Given the description of an element on the screen output the (x, y) to click on. 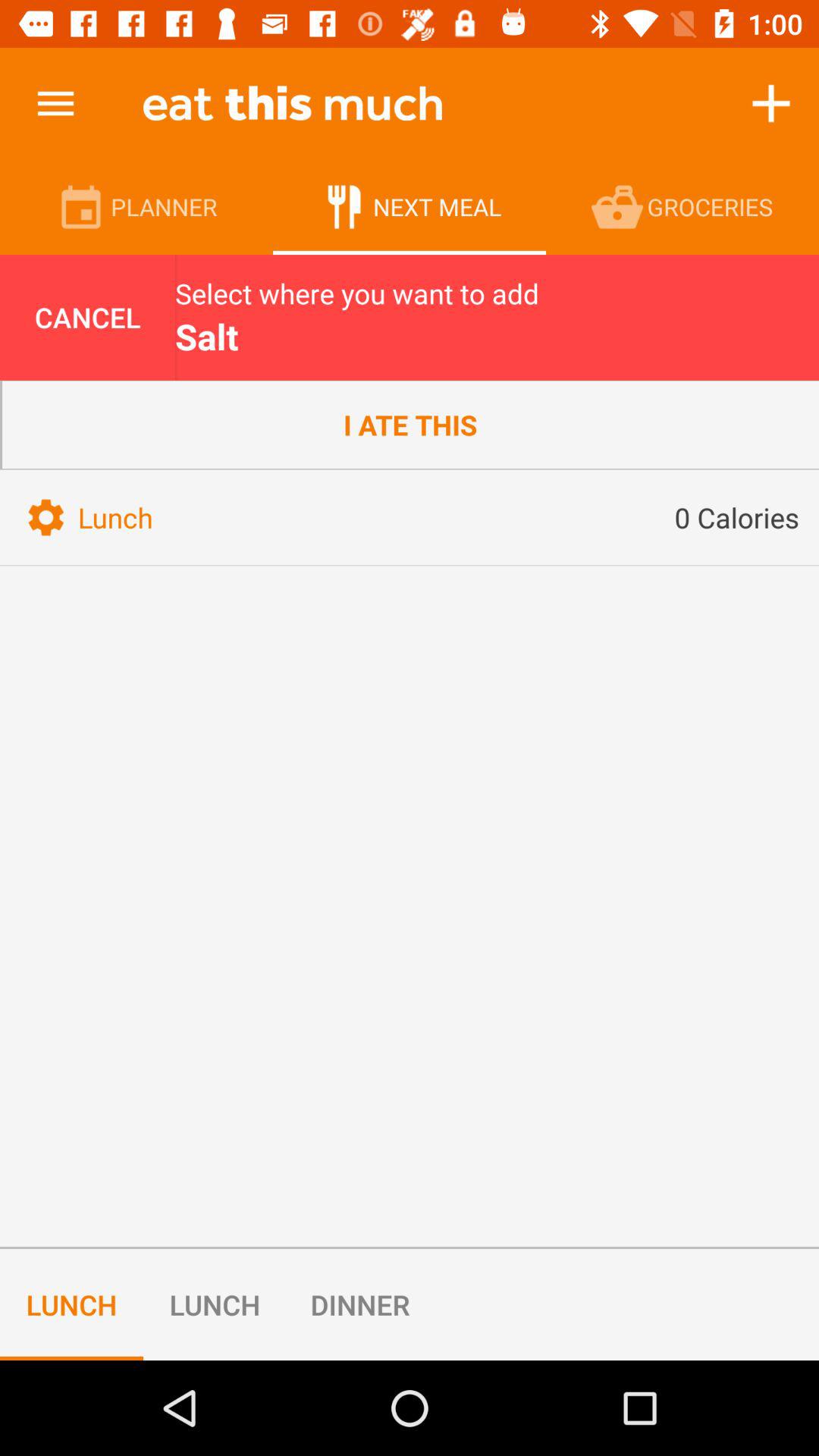
click the icon at the left side of groceries (619, 206)
